Given the description of an element on the screen output the (x, y) to click on. 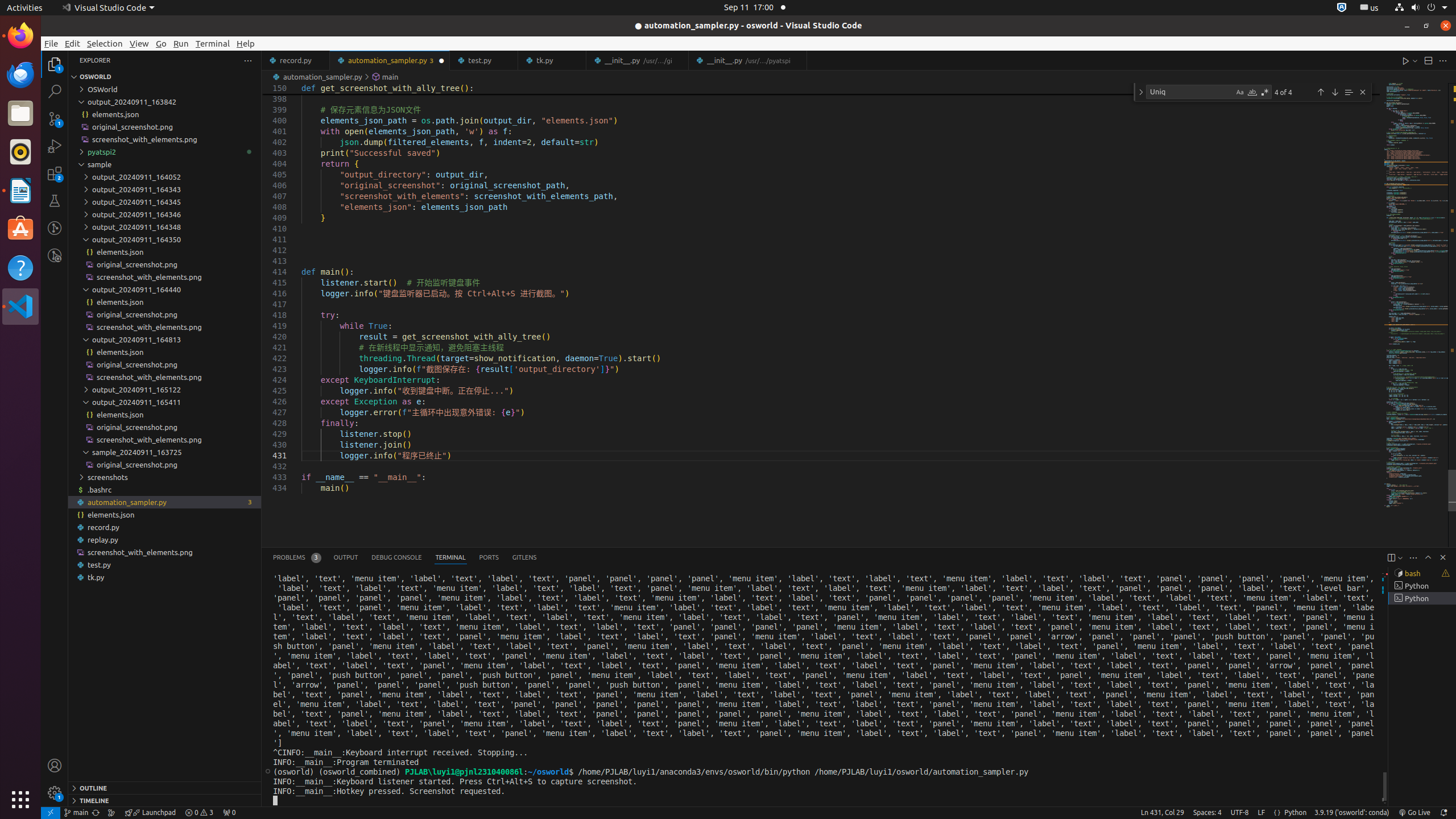
View Element type: push-button (139, 43)
Match Whole Word (Alt+W) Element type: check-box (1252, 91)
Next Match (Enter) Element type: push-button (1334, 91)
Close (Ctrl+W) Element type: push-button (798, 60)
